Given the description of an element on the screen output the (x, y) to click on. 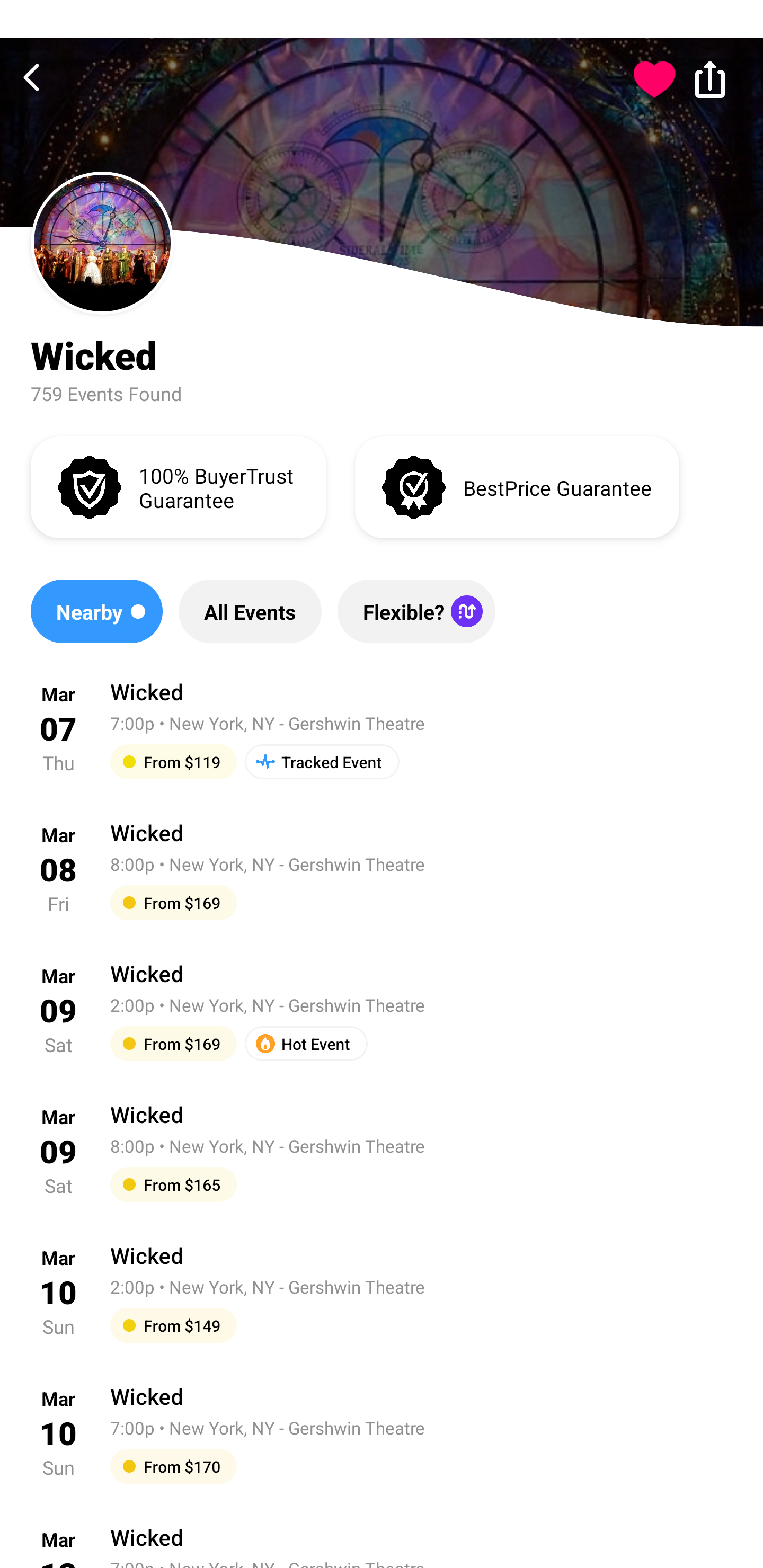
100% BuyerTrust Guarantee (178, 486)
BestPrice Guarantee (516, 486)
Nearby (96, 611)
All Events (249, 611)
Flexible? (416, 611)
